Given the description of an element on the screen output the (x, y) to click on. 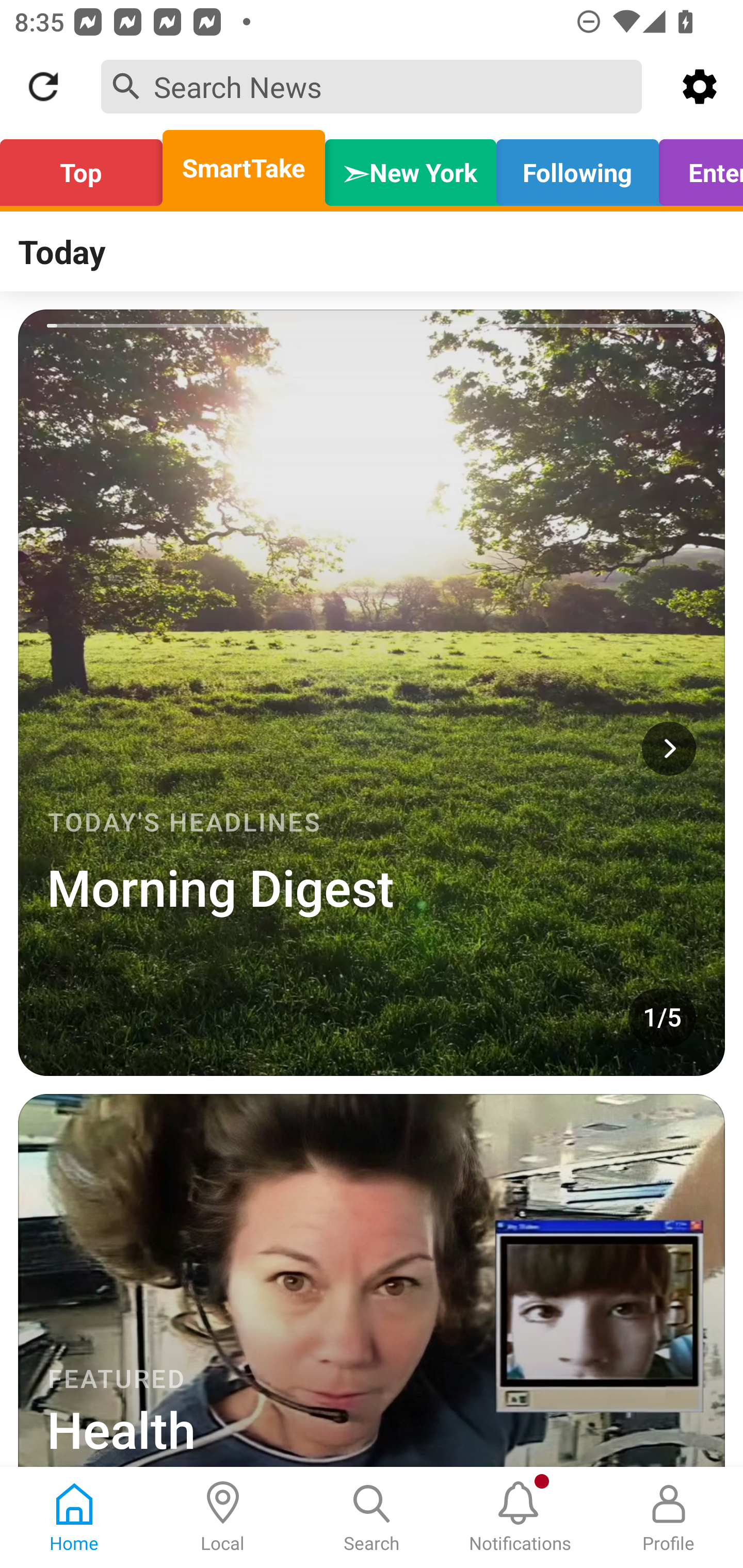
Search News (371, 85)
Top (86, 167)
SmartTake (243, 167)
➣New York (410, 167)
Following (577, 167)
Local (222, 1517)
Search (371, 1517)
Notifications, New notification Notifications (519, 1517)
Profile (668, 1517)
